Given the description of an element on the screen output the (x, y) to click on. 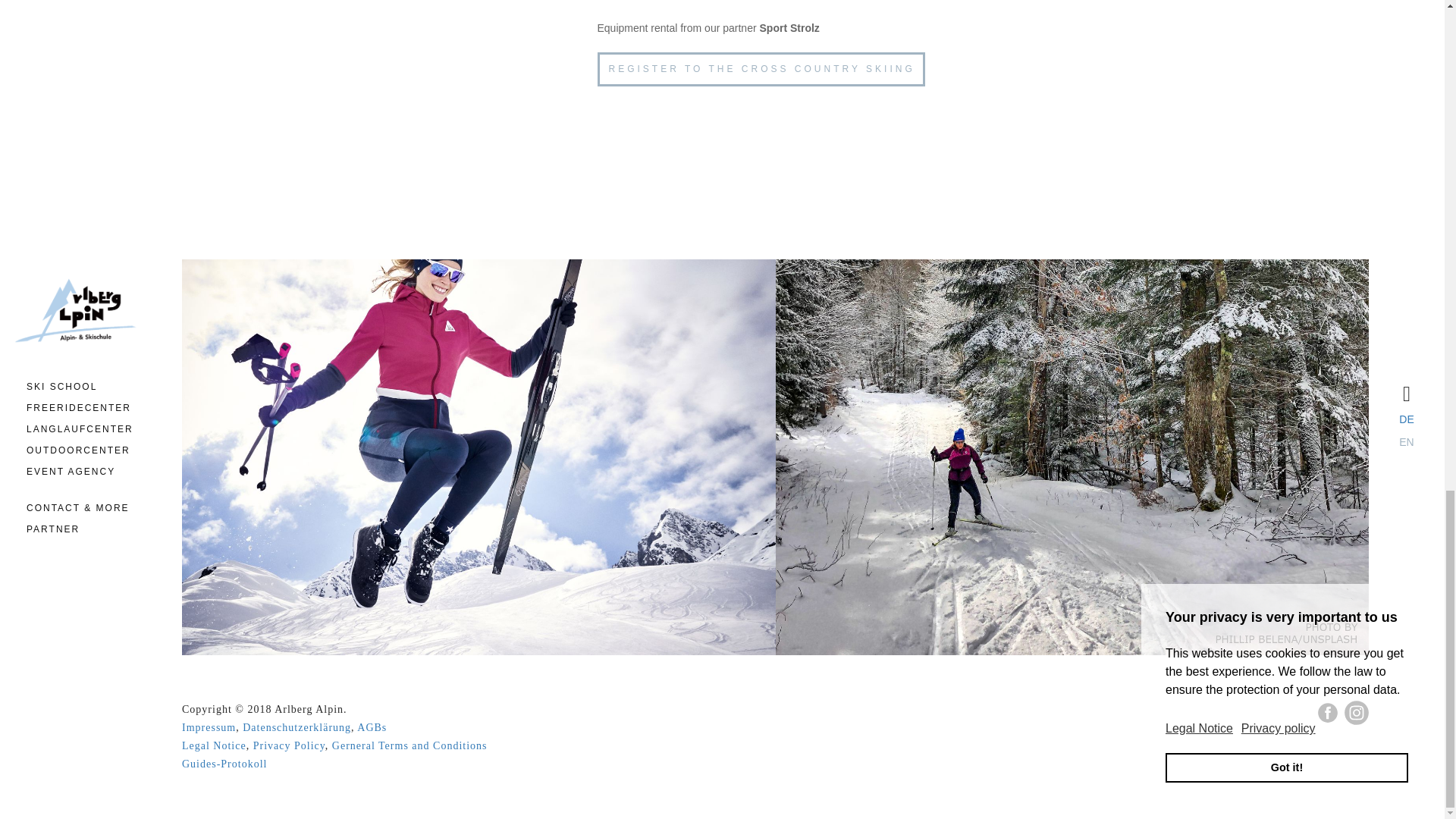
Opens internal link in current window (760, 69)
